Given the description of an element on the screen output the (x, y) to click on. 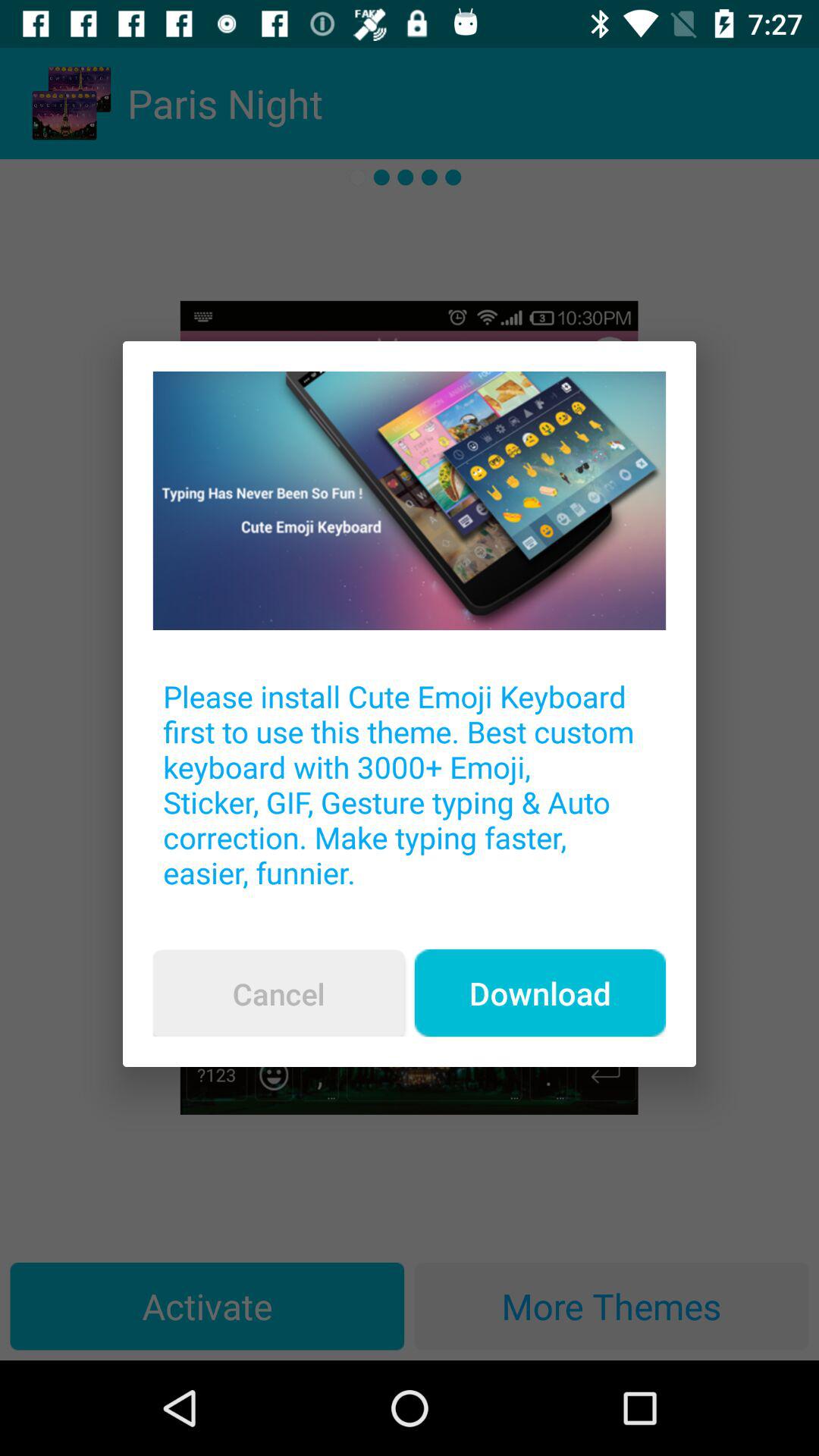
launch the cancel icon (278, 993)
